Given the description of an element on the screen output the (x, y) to click on. 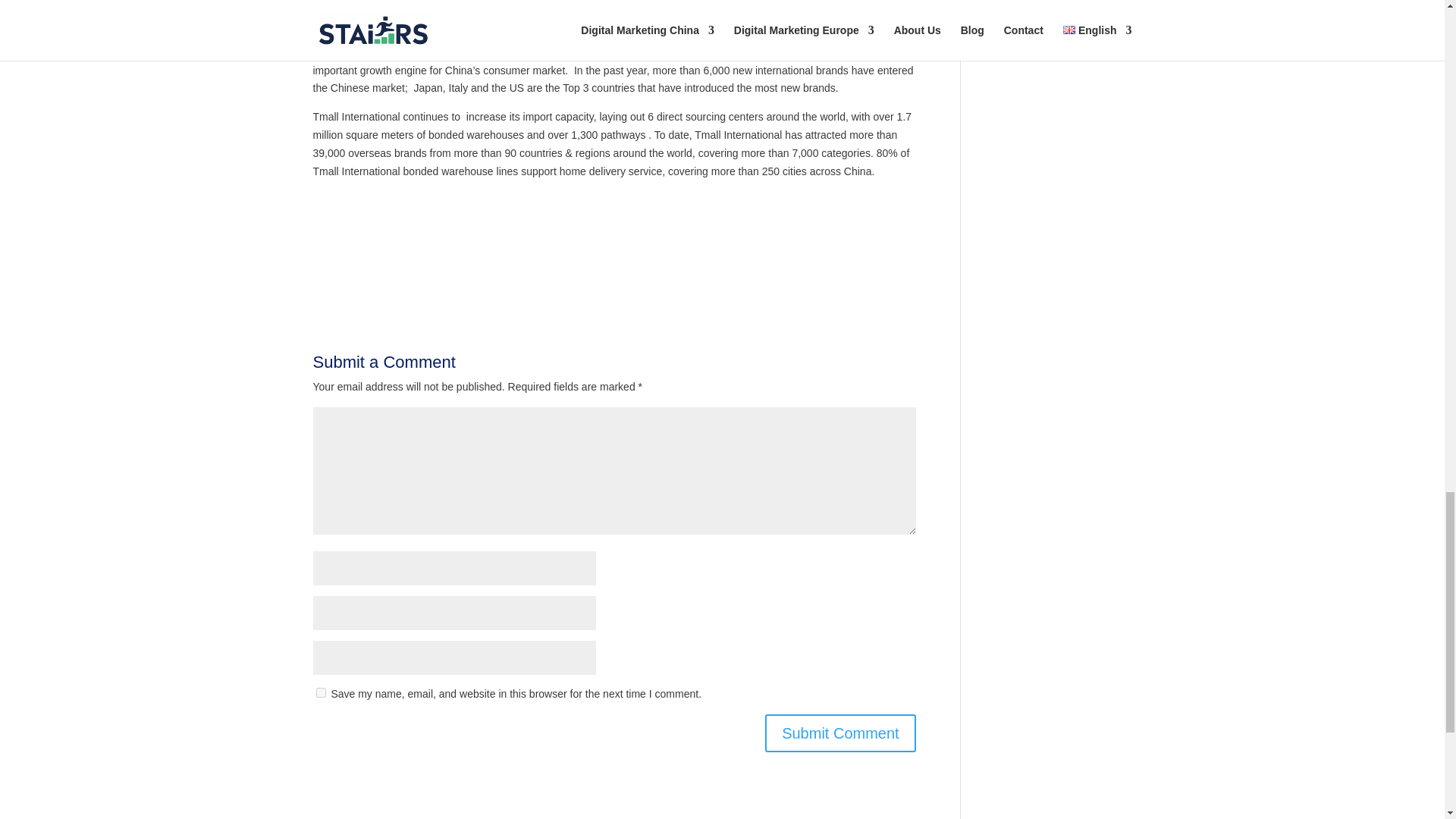
yes (319, 692)
Submit Comment (840, 733)
